Given the description of an element on the screen output the (x, y) to click on. 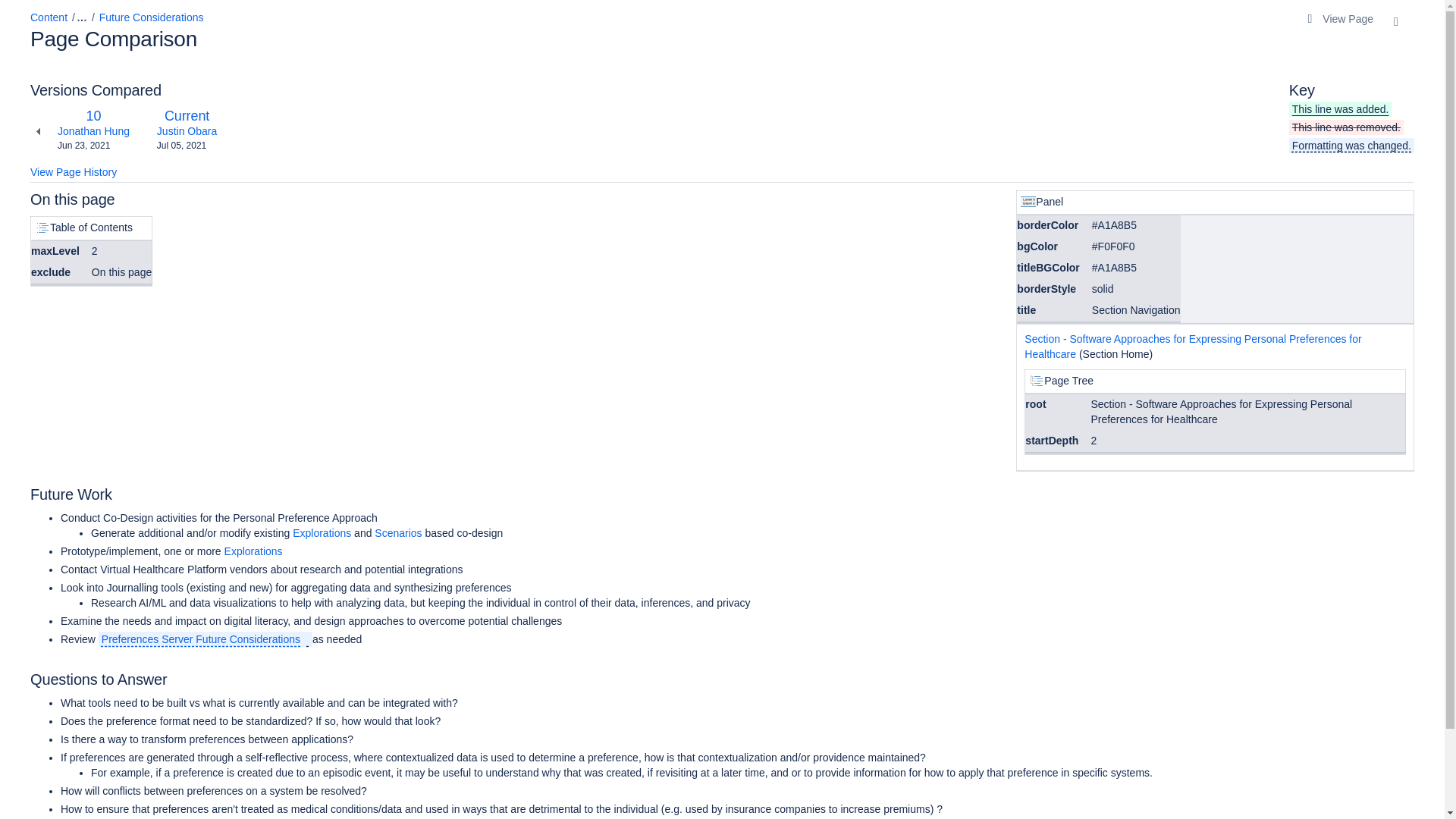
Justin Obara (186, 116)
View Page (186, 131)
Explorations (93, 116)
Jonathan Hung (1339, 19)
Scenarios (321, 532)
Content (93, 131)
View Page History (398, 532)
Explorations (48, 17)
